Given the description of an element on the screen output the (x, y) to click on. 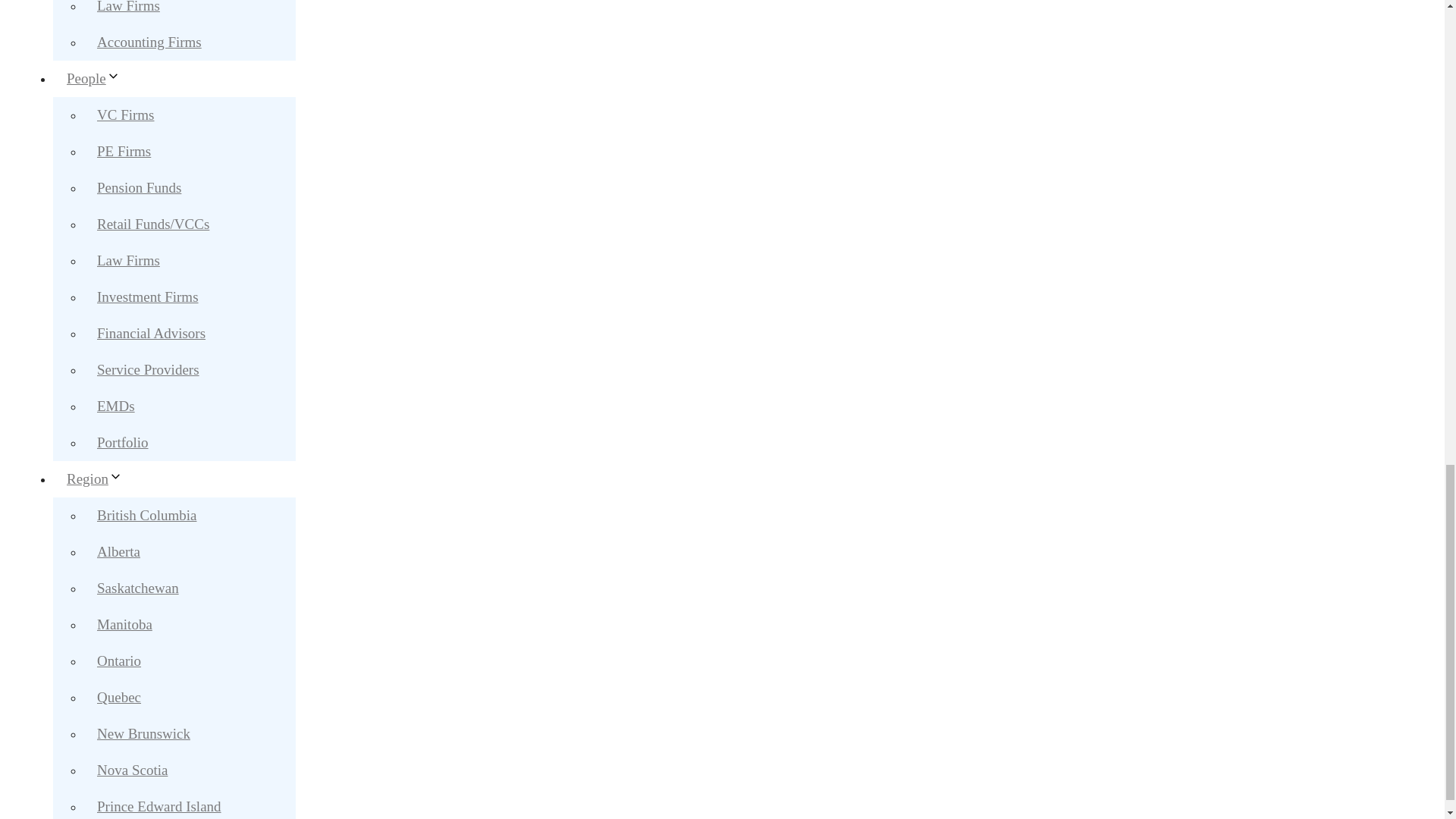
Service Providers (147, 369)
Portfolio (121, 442)
Pension Funds (138, 187)
Investment Firms (147, 296)
EMDs (115, 406)
Law Firms (127, 11)
Law Firms (127, 260)
PE Firms (123, 151)
People (100, 78)
Accounting Firms (148, 41)
